Given the description of an element on the screen output the (x, y) to click on. 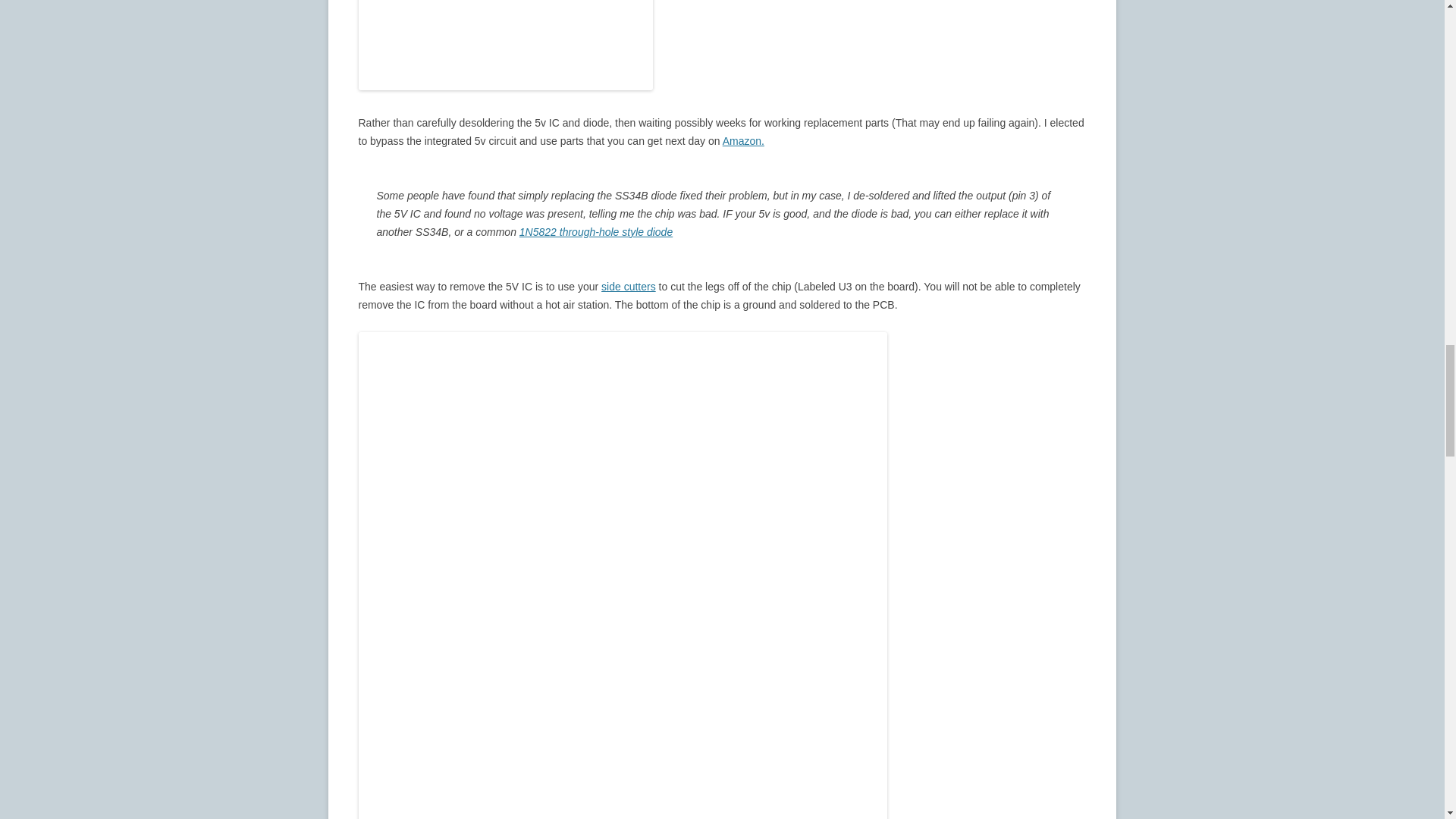
1N5822 through-hole style diode (595, 232)
side cutters (628, 286)
Amazon. (743, 141)
